Given the description of an element on the screen output the (x, y) to click on. 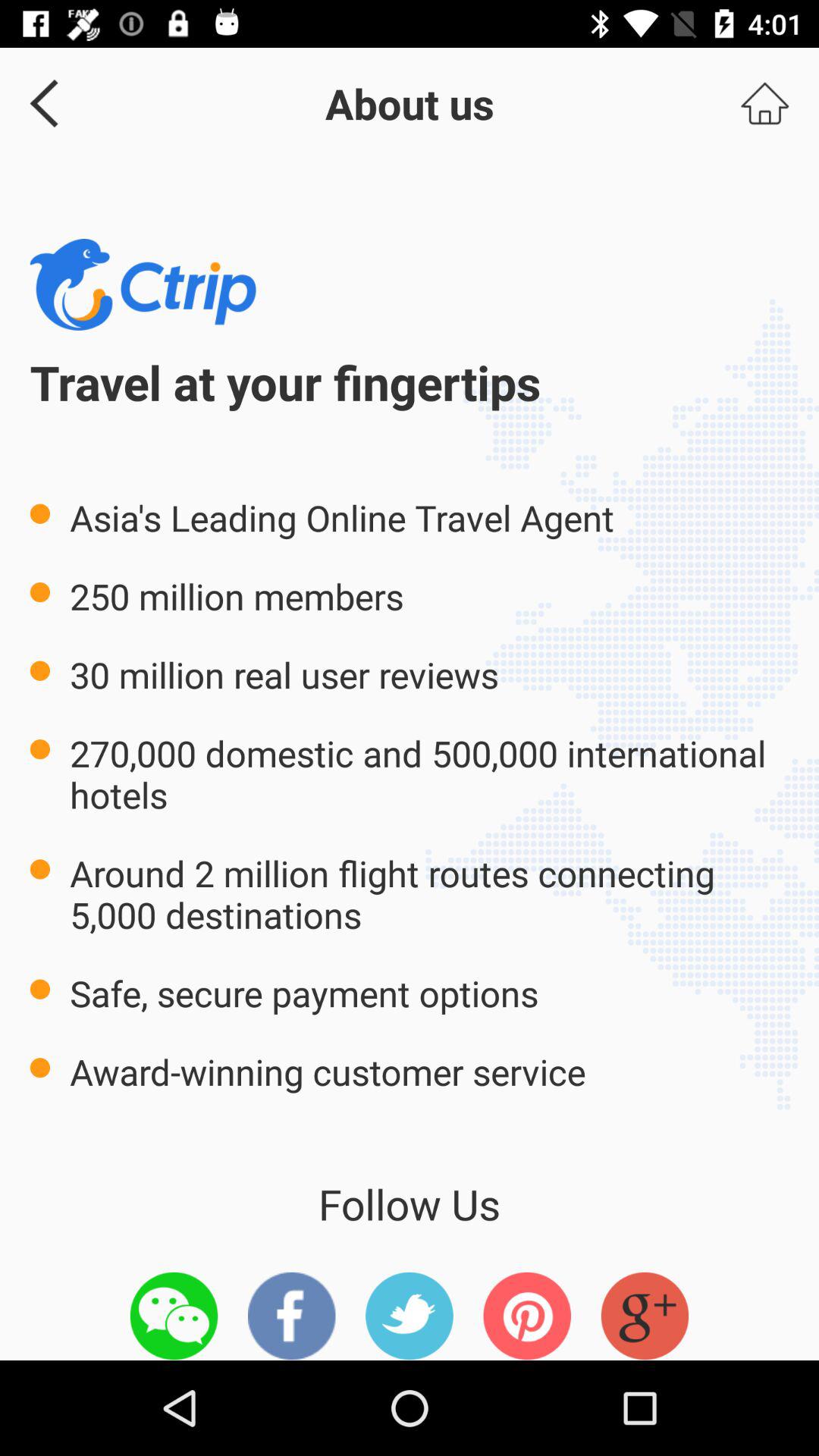
this option we chat (173, 1315)
